Given the description of an element on the screen output the (x, y) to click on. 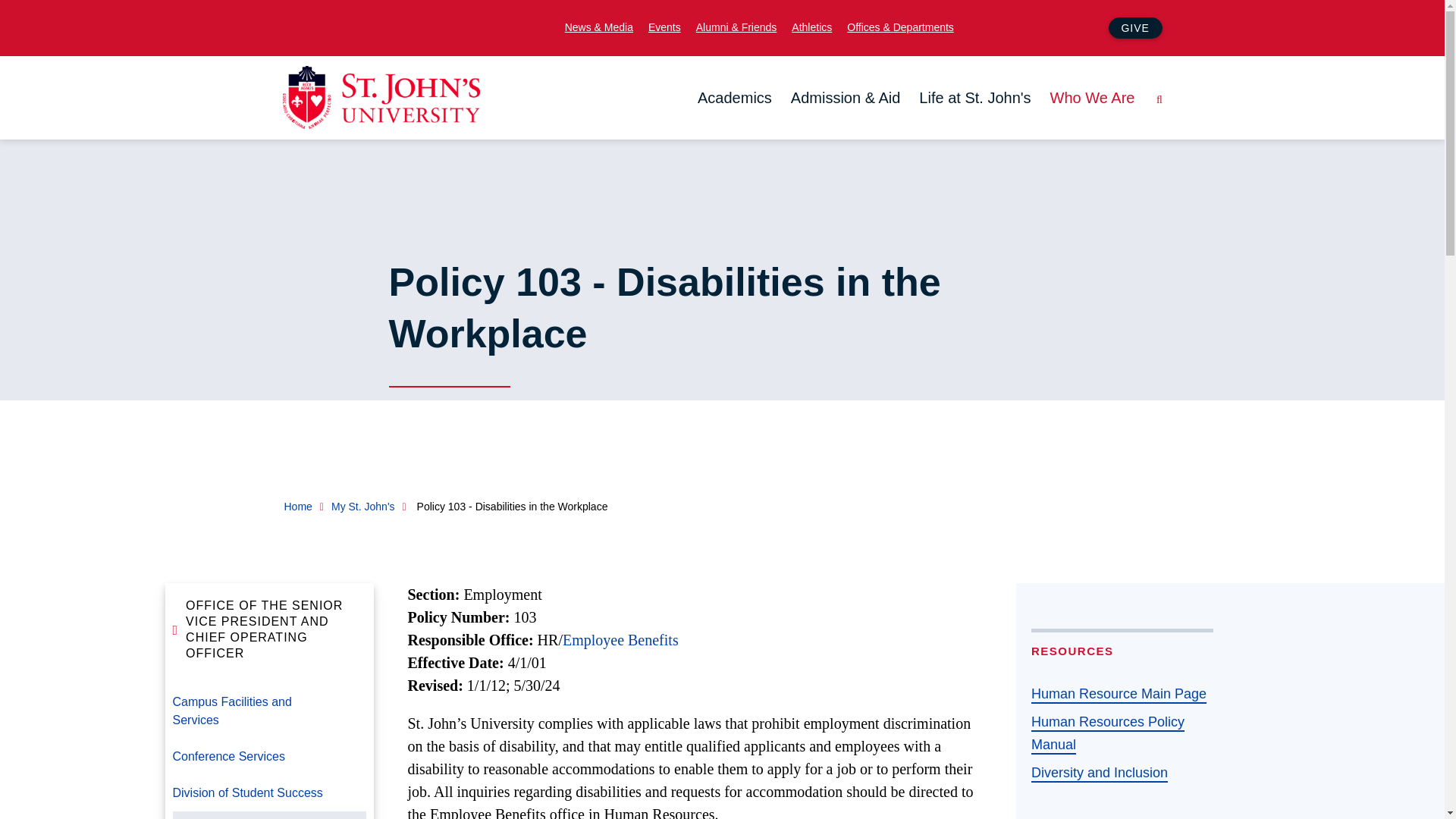
Athletics (811, 26)
Life at St. John's (974, 97)
Employee Benefits (620, 639)
GIVE (1134, 27)
Events (664, 26)
Academics (734, 97)
